Given the description of an element on the screen output the (x, y) to click on. 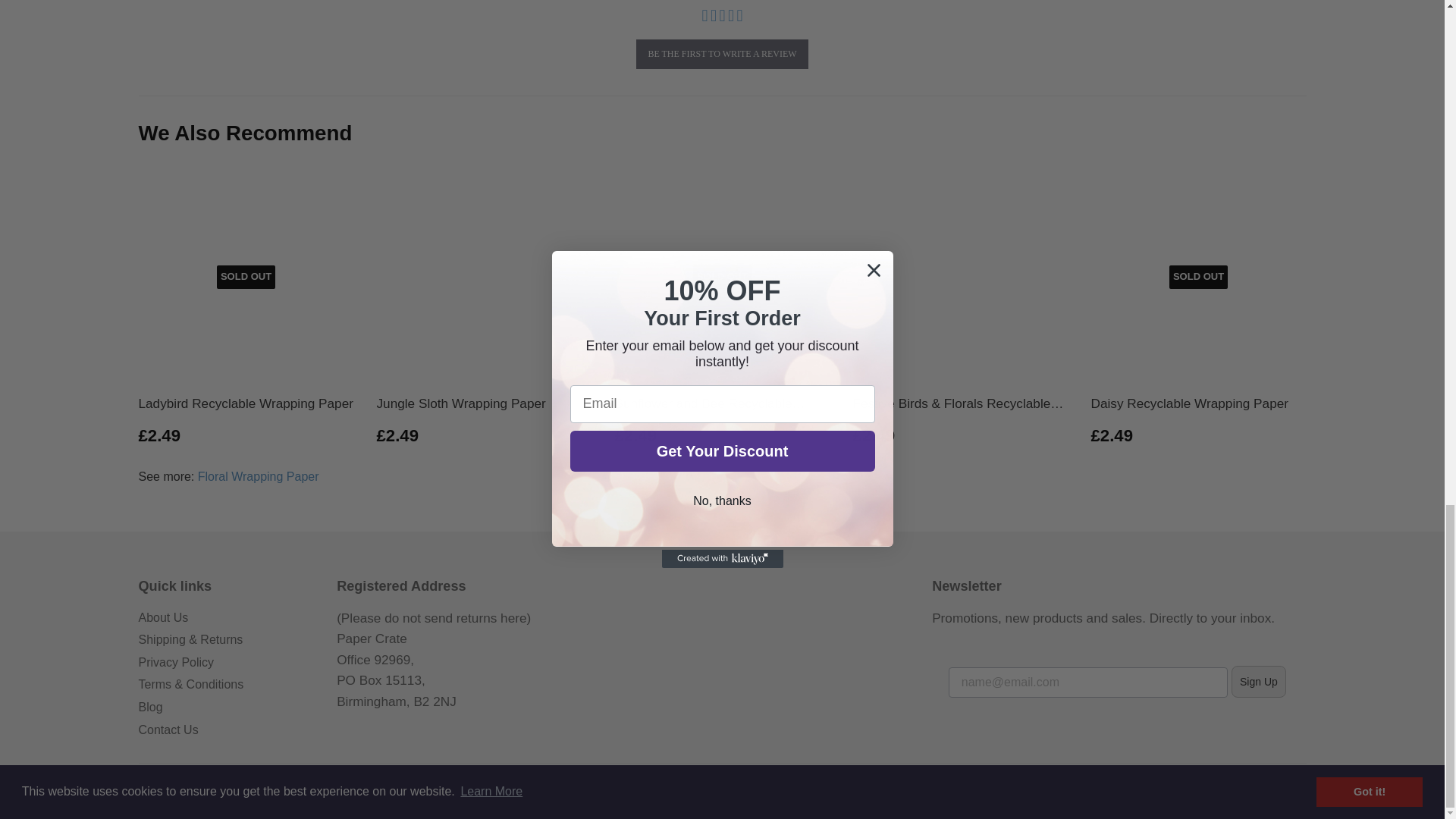
Paper Crate on Facebook (700, 784)
Paper Crate on Instagram (735, 784)
Paper Crate on Pinterest (718, 784)
